Given the description of an element on the screen output the (x, y) to click on. 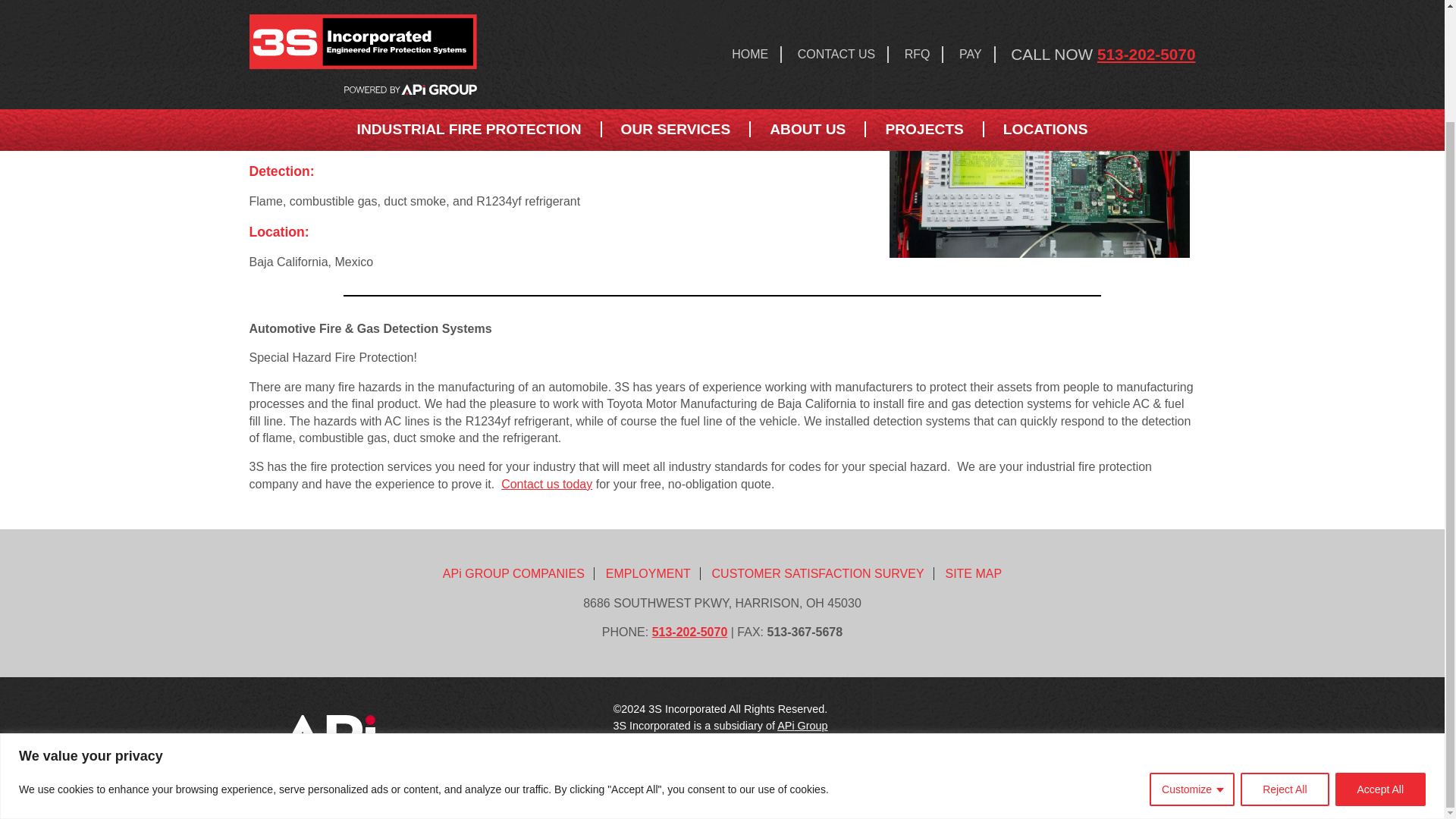
Reject All (1283, 656)
Accept All (1380, 656)
Customize (1192, 656)
